Given the description of an element on the screen output the (x, y) to click on. 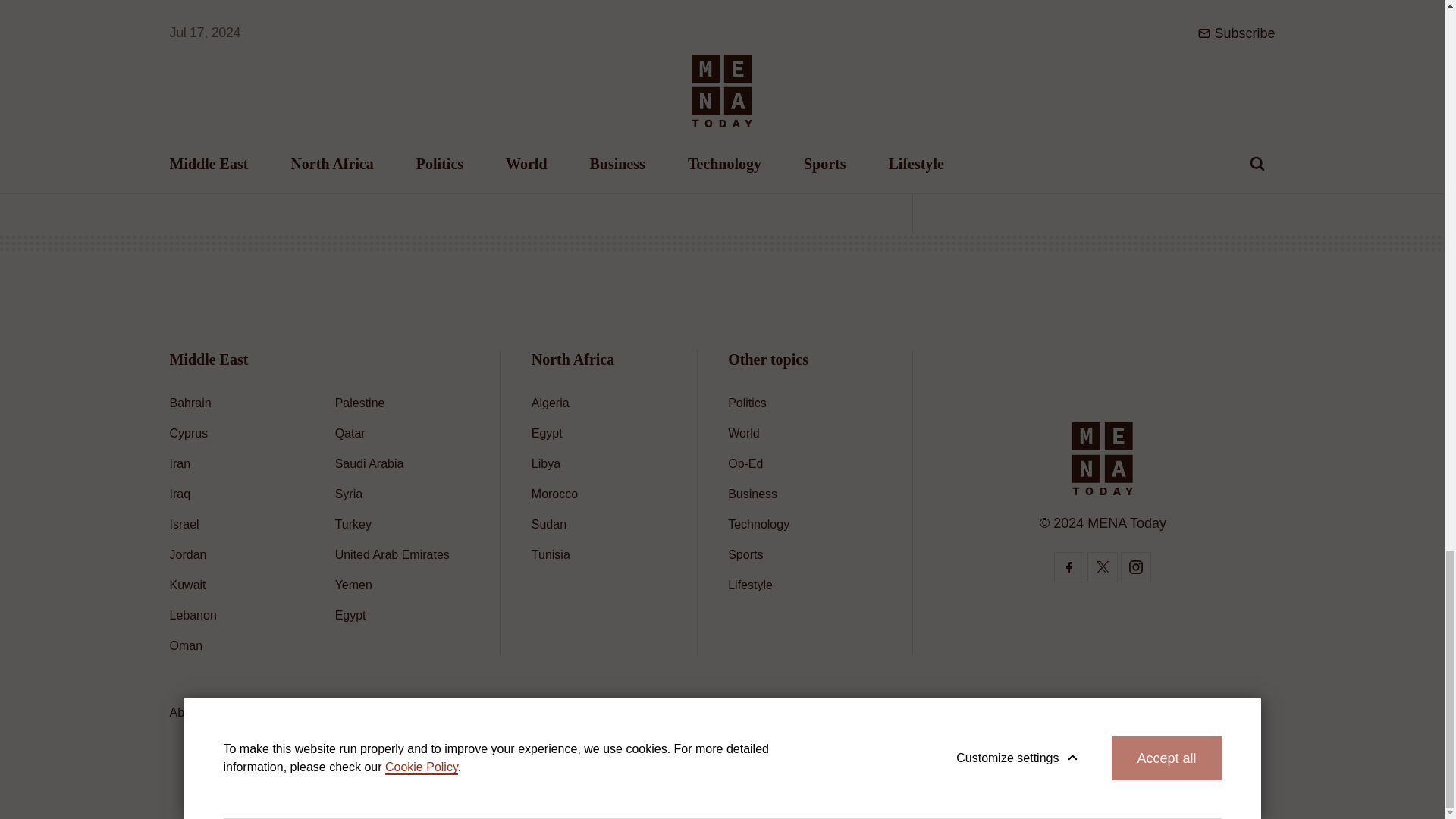
Middle East (270, 95)
Cyprus (189, 432)
Qatar (349, 432)
United Arab Emirates (391, 554)
Bahrain (190, 402)
Lebanon (193, 615)
Syria (348, 493)
Turkey (352, 523)
Hamas (197, 95)
About us (194, 712)
Palestine (359, 402)
Kuwait (188, 584)
Saudi Arabia (369, 463)
Jordan (188, 554)
Oman (186, 645)
